Given the description of an element on the screen output the (x, y) to click on. 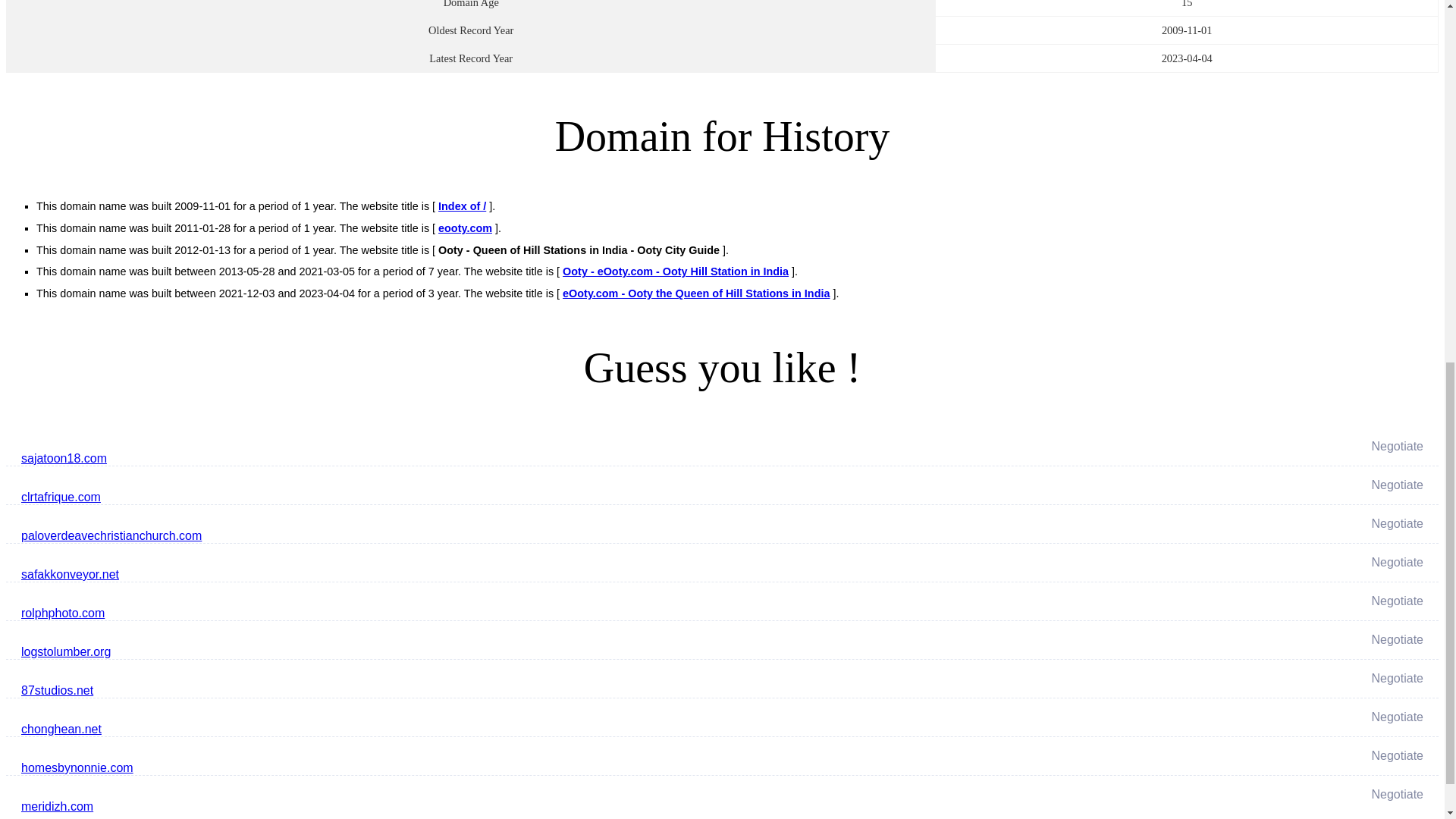
sajatoon18.com (483, 458)
eooty.com (465, 227)
rolphphoto.com (483, 613)
safakkonveyor.net (483, 574)
logstolumber.org (483, 651)
eooty.com (465, 227)
87studios.net (483, 690)
sajatoon18.com (483, 458)
clrtafrique.com (483, 497)
chonghean.net (483, 729)
clrtafrique.com (483, 497)
sajatoon18.com (483, 458)
Ooty - eOoty.com - Ooty Hill Station in India (675, 271)
clrtafrique.com (483, 497)
paloverdeavechristianchurch.com (483, 535)
